Given the description of an element on the screen output the (x, y) to click on. 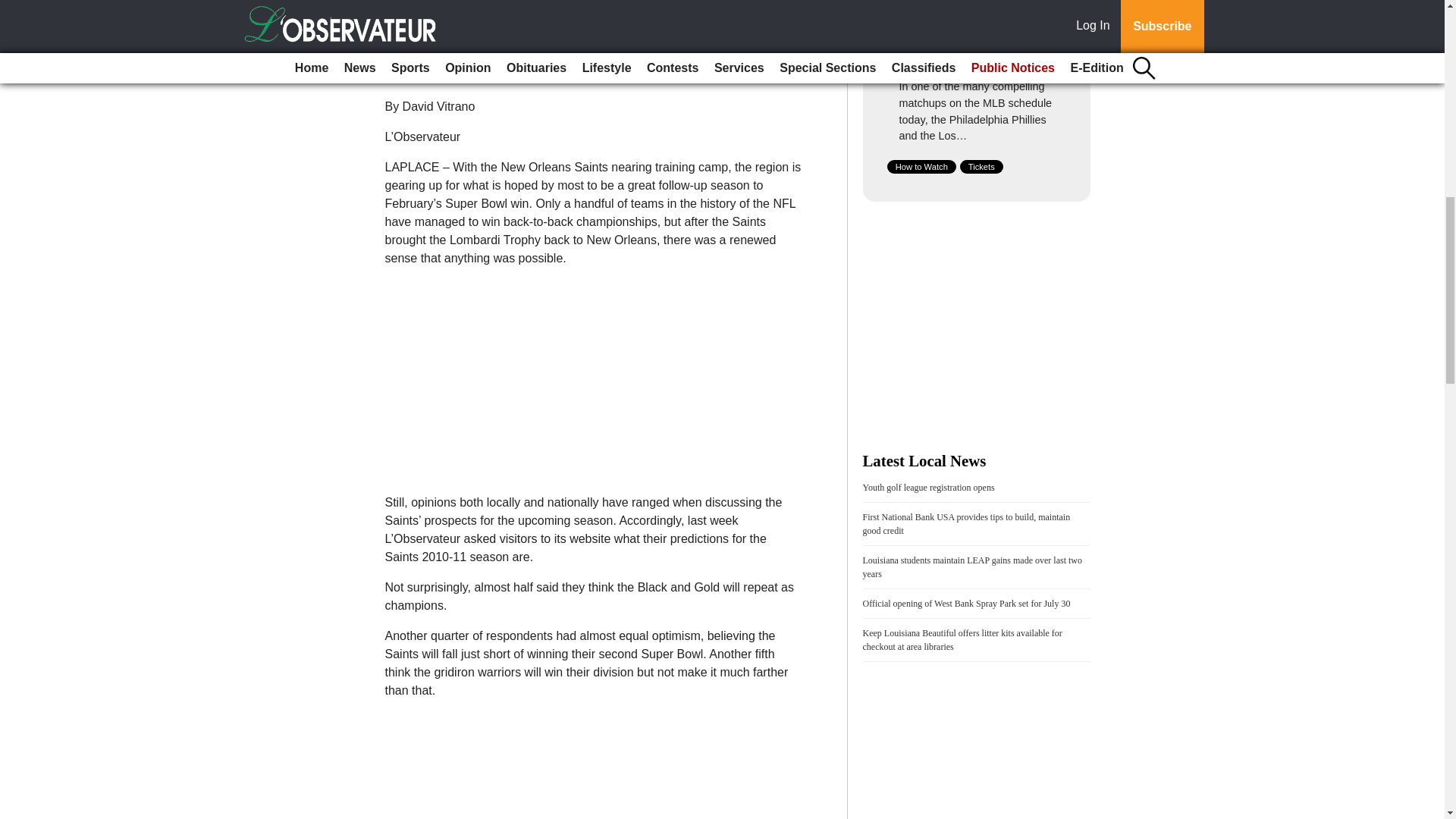
Official opening of West Bank Spray Park set for July 30 (966, 603)
How to Watch (921, 166)
Youth golf league registration opens (928, 487)
Tickets (981, 166)
